Given the description of an element on the screen output the (x, y) to click on. 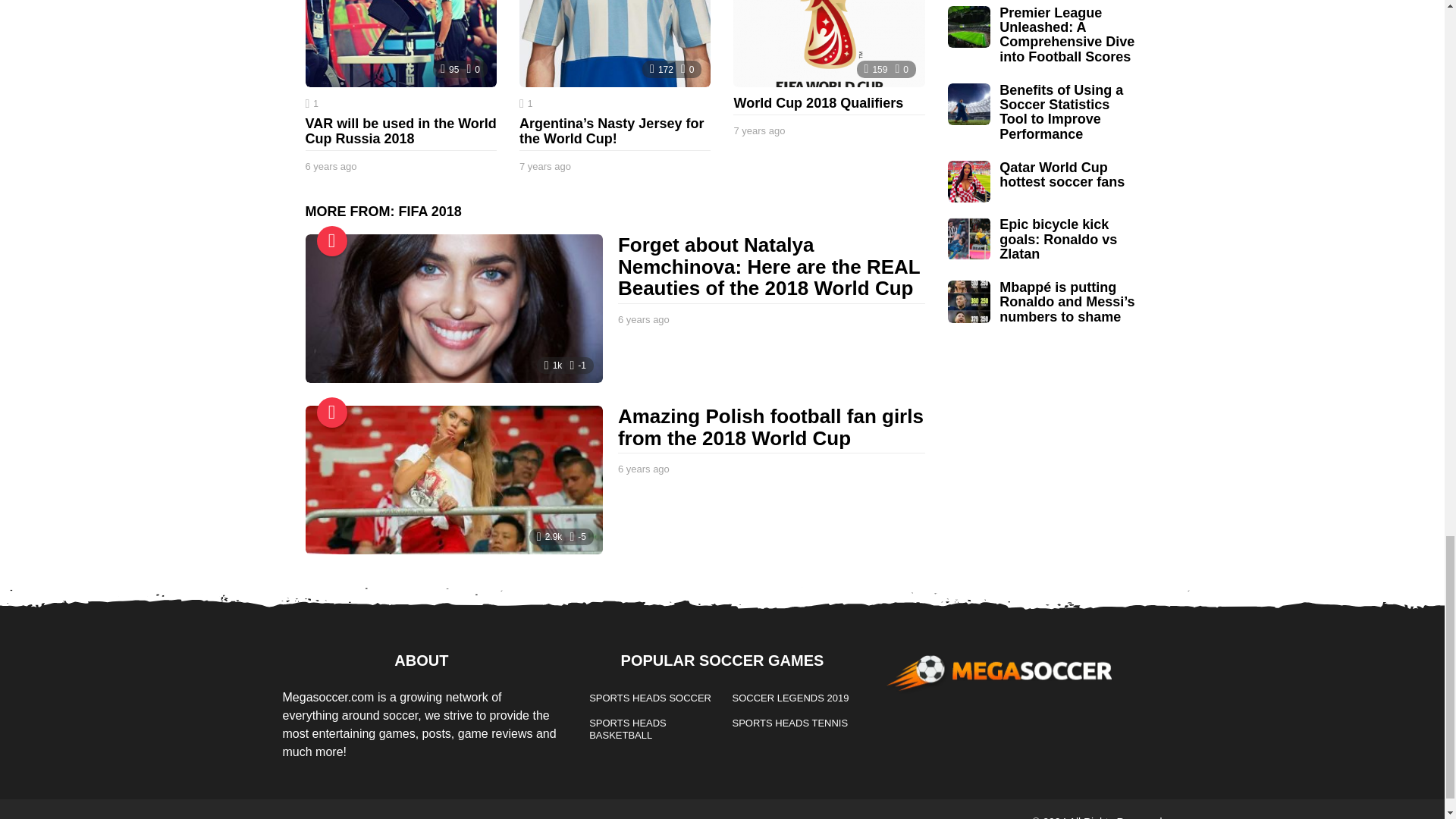
VAR will be used in the World Cup Russia 2018 (400, 131)
1 (311, 103)
World Cup 2018 Qualifiers (828, 43)
Amazing Polish football fan girls from the 2018 World Cup (453, 479)
Hot (332, 412)
VAR will be used in the World Cup Russia 2018 (400, 43)
Popular (332, 241)
1 (525, 103)
